Given the description of an element on the screen output the (x, y) to click on. 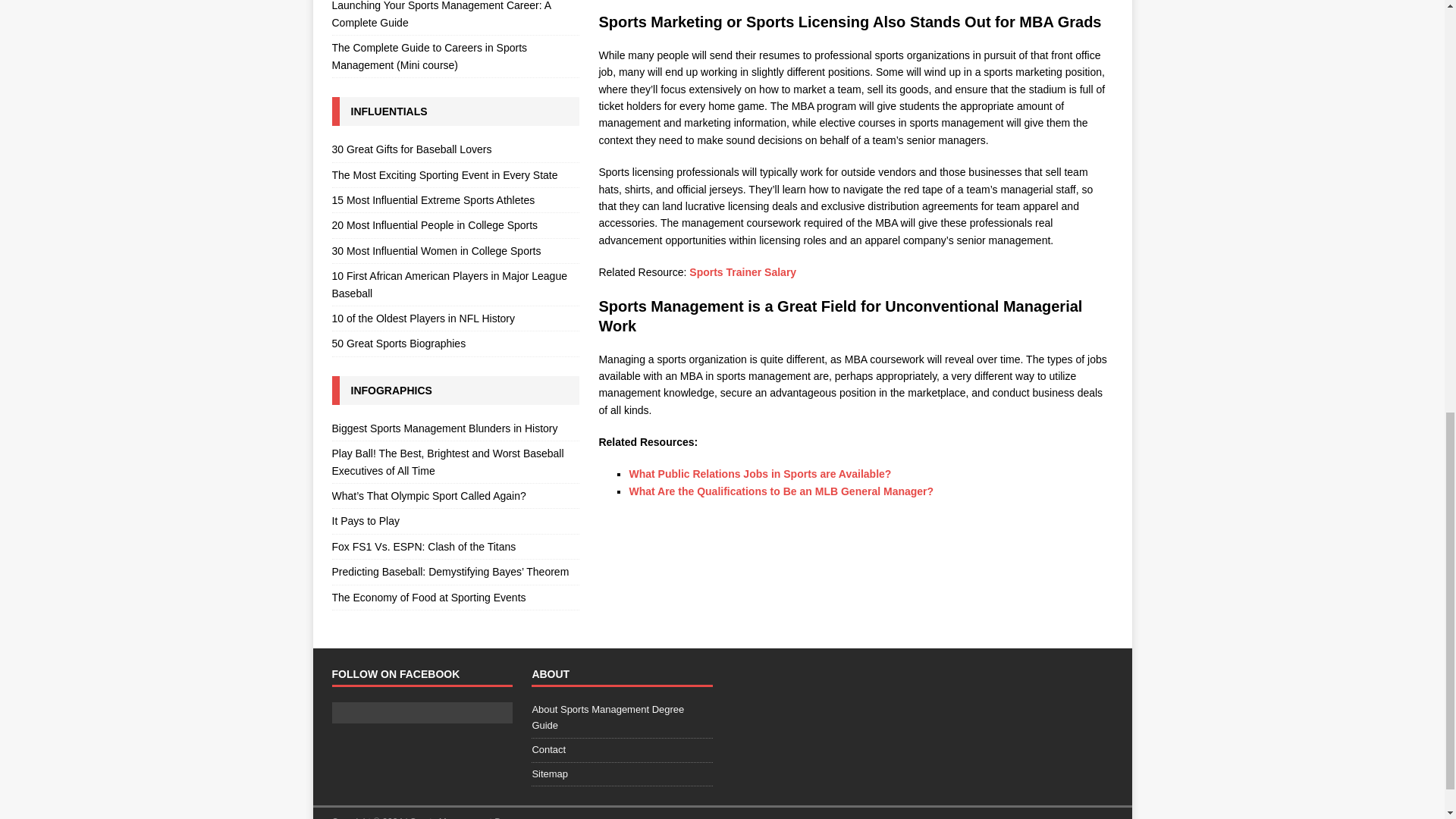
Sports Trainer Salary (742, 272)
50 Great Sports Biographies (455, 343)
20 Most Influential People in College Sports (455, 224)
10 First African American Players in Major League Baseball (455, 284)
30 Most Influential Women in College Sports (455, 250)
30 Great Gifts for Baseball Lovers (455, 150)
15 Most Influential Extreme Sports Athletes (455, 200)
What Public Relations Jobs in Sports are Available? (759, 473)
Launching Your Sports Management Career: A Complete Guide (455, 17)
10 of the Oldest Players in NFL History (455, 318)
How Much Does a Sports Trainer Make? (742, 272)
The Most Exciting Sporting Event in Every State (455, 174)
What Are the Qualifications to Be an MLB General Manager? (780, 491)
